Given the description of an element on the screen output the (x, y) to click on. 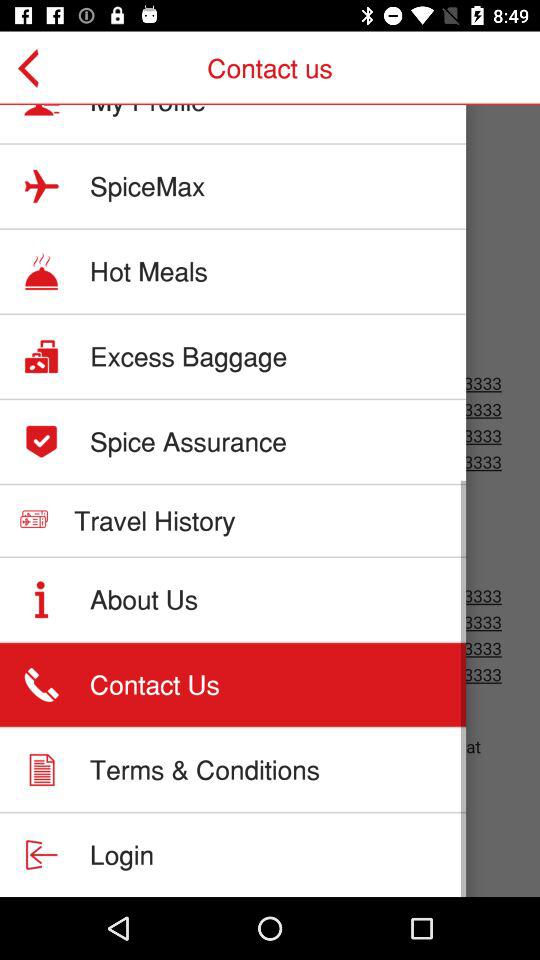
tap my profile icon (147, 111)
